Given the description of an element on the screen output the (x, y) to click on. 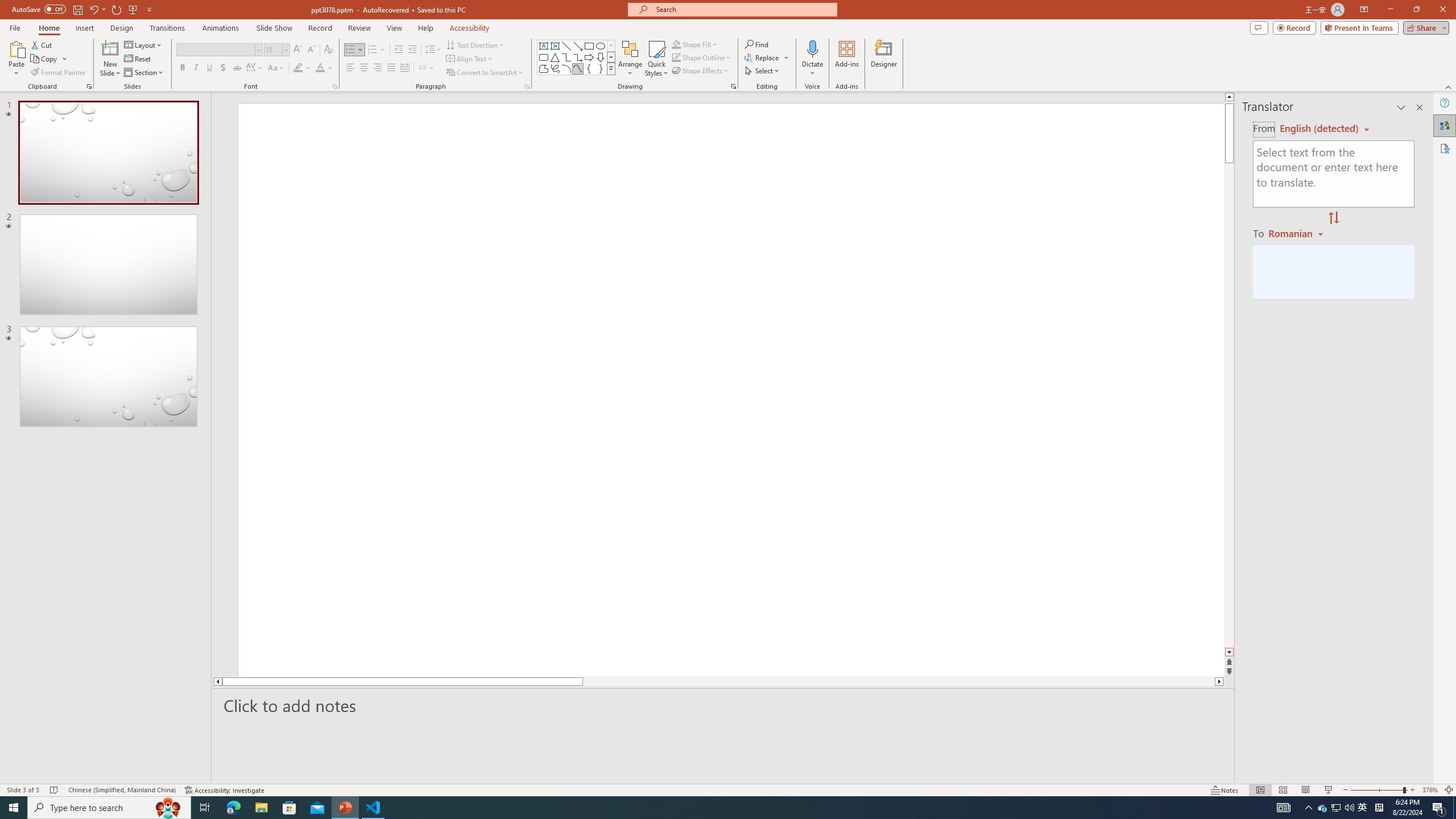
Line Arrow (577, 45)
Paste (16, 58)
Reset (138, 58)
Quick Styles (656, 58)
Text Direction (476, 44)
Center (363, 67)
Connector: Elbow Arrow (577, 57)
Microsoft search (742, 9)
Office Clipboard... (88, 85)
Line (566, 45)
